Given the description of an element on the screen output the (x, y) to click on. 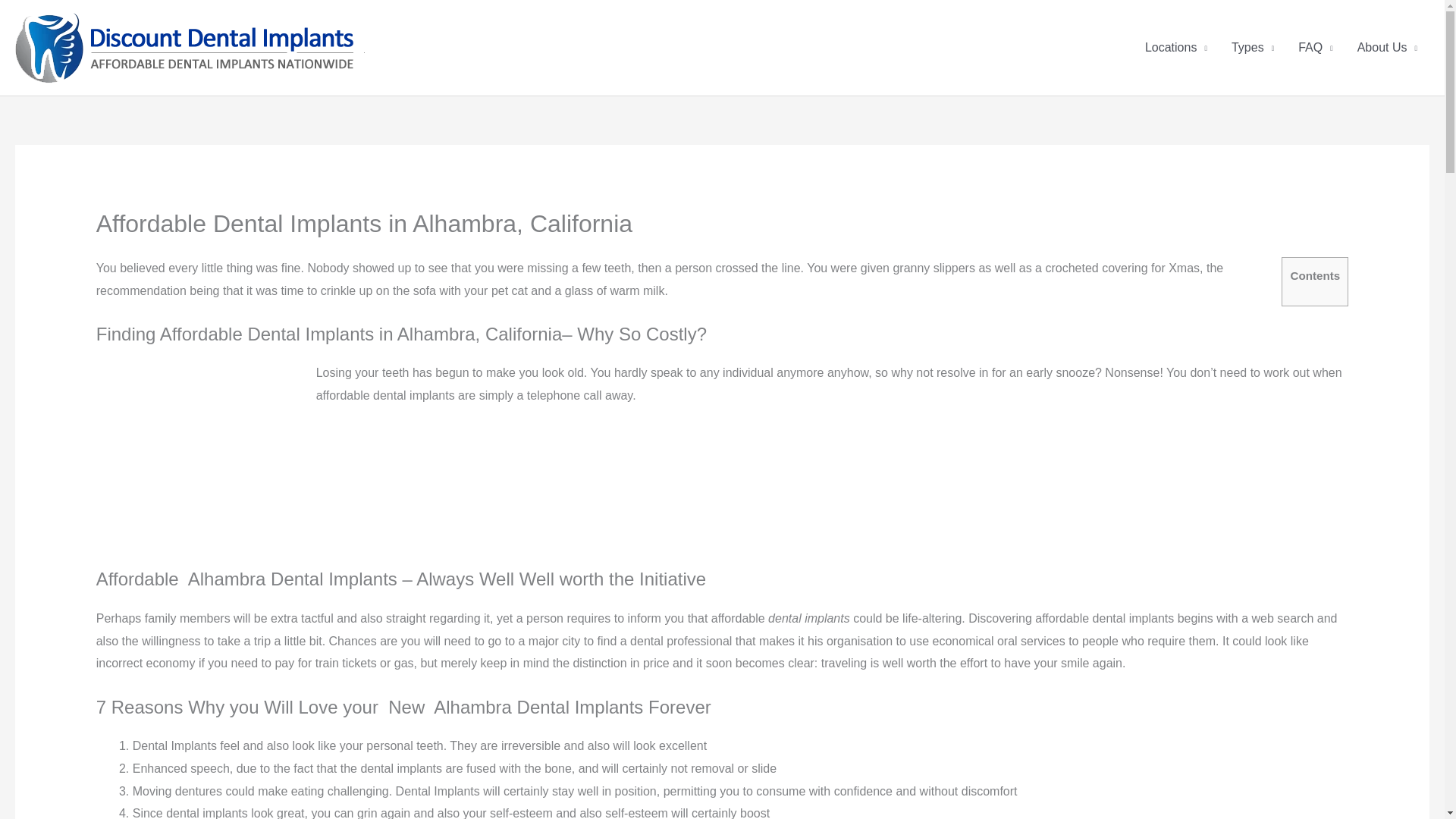
Types (1252, 47)
FAQ (1315, 47)
About Us (1387, 47)
Locations (1176, 47)
